Given the description of an element on the screen output the (x, y) to click on. 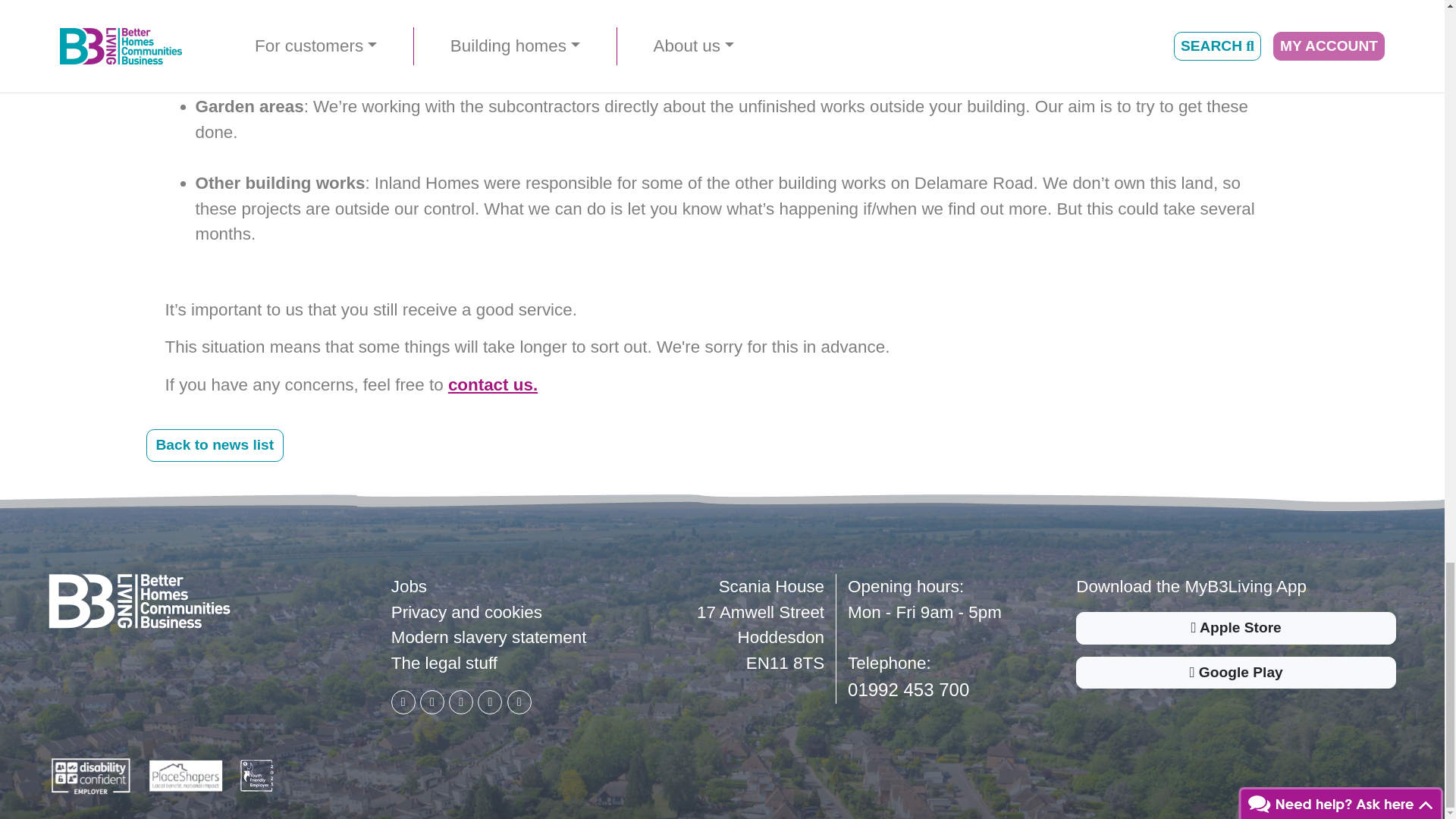
Disability Confident Employer (90, 775)
Youth Friendly Employer (257, 775)
B3 Living (139, 601)
Place Shapers (185, 775)
Contact us (492, 384)
